Given the description of an element on the screen output the (x, y) to click on. 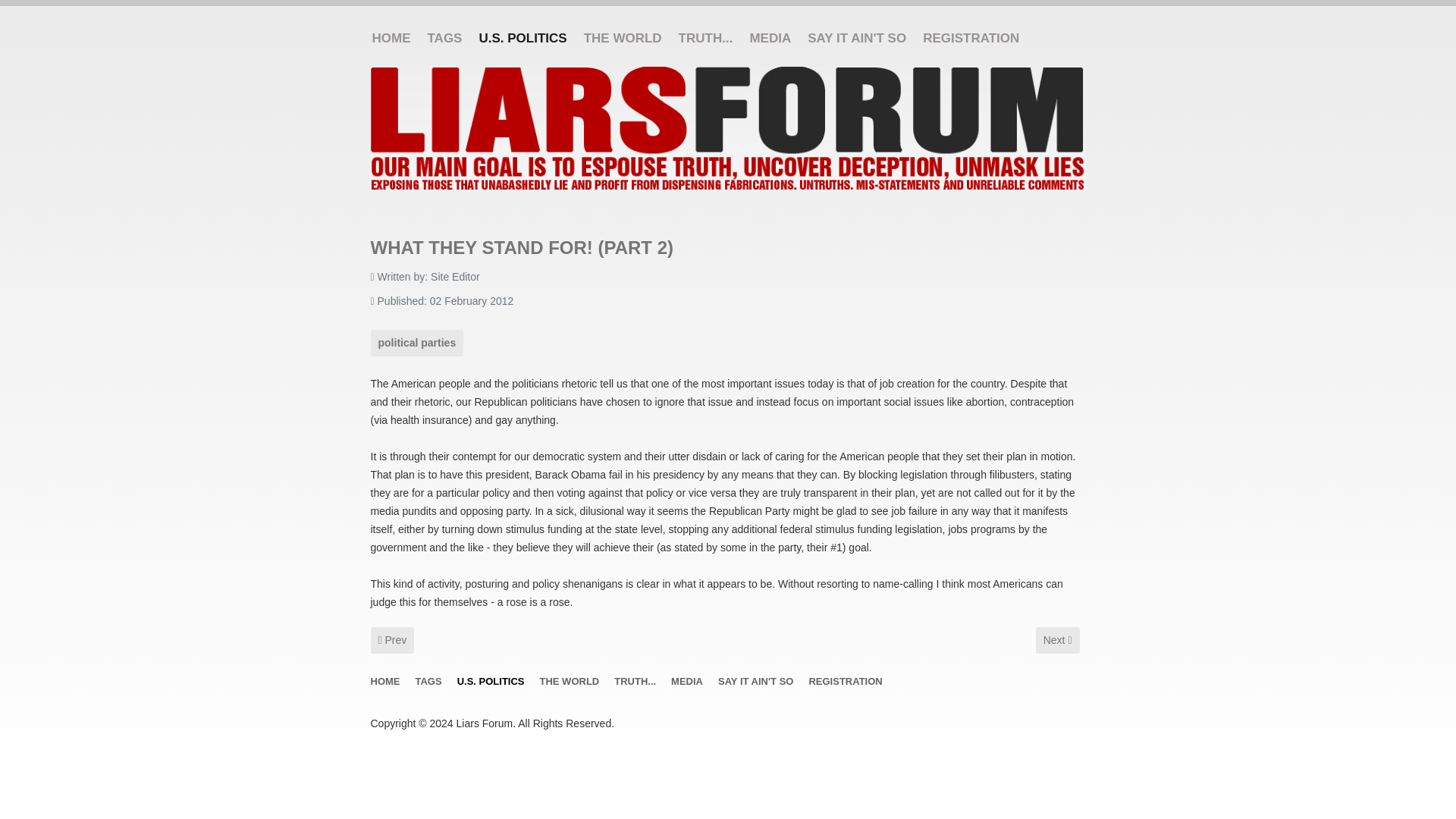
TRUTH... (709, 38)
SAY IT AIN'T SO (758, 681)
TAGS (1057, 640)
U.S. POLITICS (449, 38)
TRUTH... (526, 38)
THE WORLD (638, 681)
THE WORLD (626, 38)
TAGS (573, 681)
SAY IT AIN'T SO (391, 640)
MEDIA (431, 681)
MEDIA (861, 38)
HOME (690, 681)
REGISTRATION (773, 38)
